Given the description of an element on the screen output the (x, y) to click on. 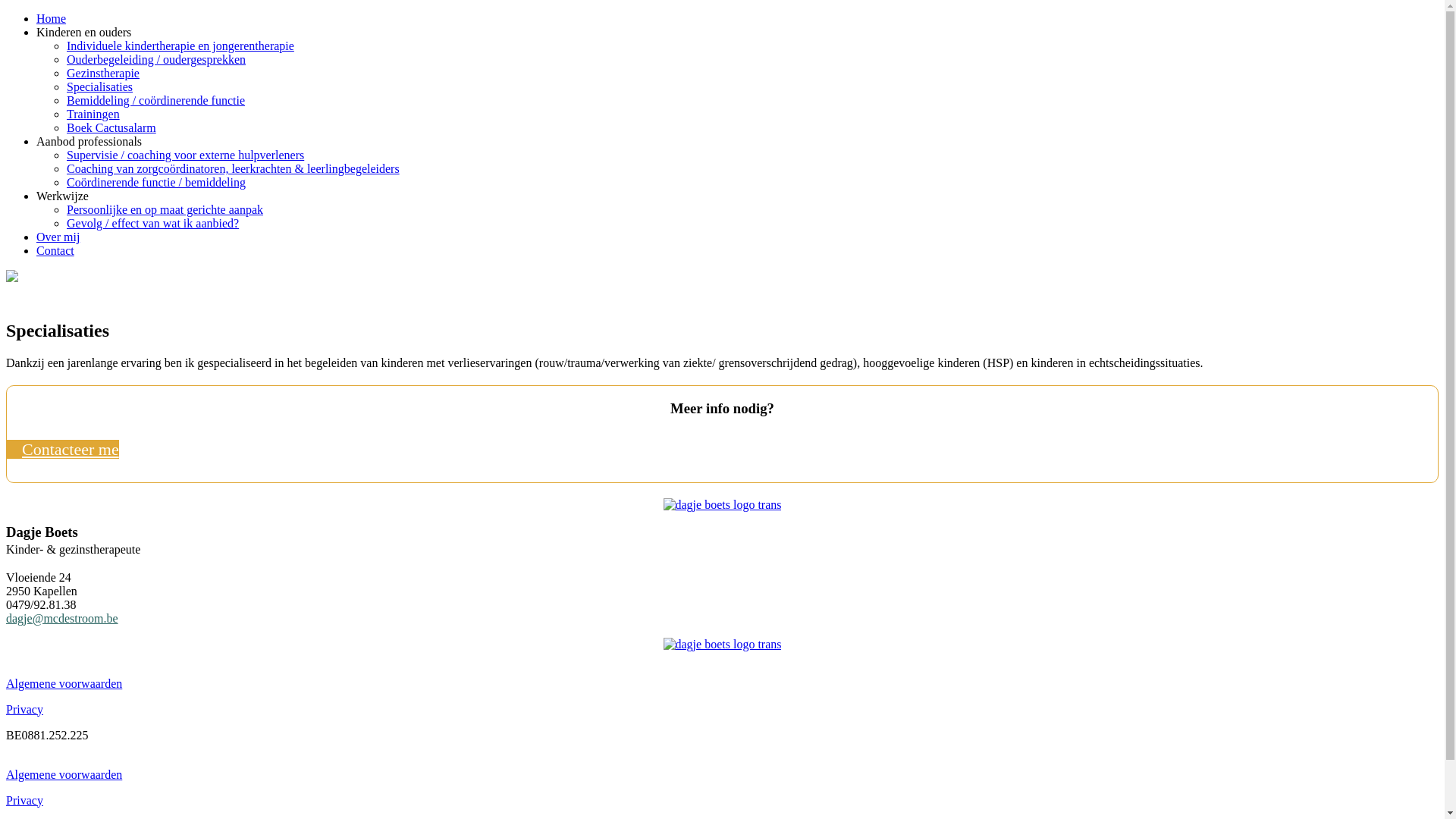
Boek Cactusalarm Element type: text (111, 127)
Specialisaties Element type: text (99, 86)
Privacy Element type: text (24, 708)
Privacy Element type: text (24, 799)
Algemene voorwaarden Element type: text (64, 774)
Contact Element type: text (55, 250)
Home Element type: text (50, 18)
Individuele kindertherapie en jongerentherapie Element type: text (180, 45)
Contacteer me Element type: text (62, 448)
Werkwijze Element type: text (62, 195)
Persoonlijke en op maat gerichte aanpak Element type: text (164, 209)
Kinderen en ouders Element type: text (83, 31)
Gevolg / effect van wat ik aanbied? Element type: text (152, 222)
Over mij Element type: text (57, 236)
Algemene voorwaarden Element type: text (64, 683)
Ouderbegeleiding / oudergesprekken Element type: text (155, 59)
Aanbod professionals Element type: text (88, 140)
dagje@mcdestroom.be Element type: text (62, 617)
Trainingen Element type: text (92, 113)
Gezinstherapie Element type: text (102, 72)
Supervisie / coaching voor externe hulpverleners Element type: text (185, 154)
